Given the description of an element on the screen output the (x, y) to click on. 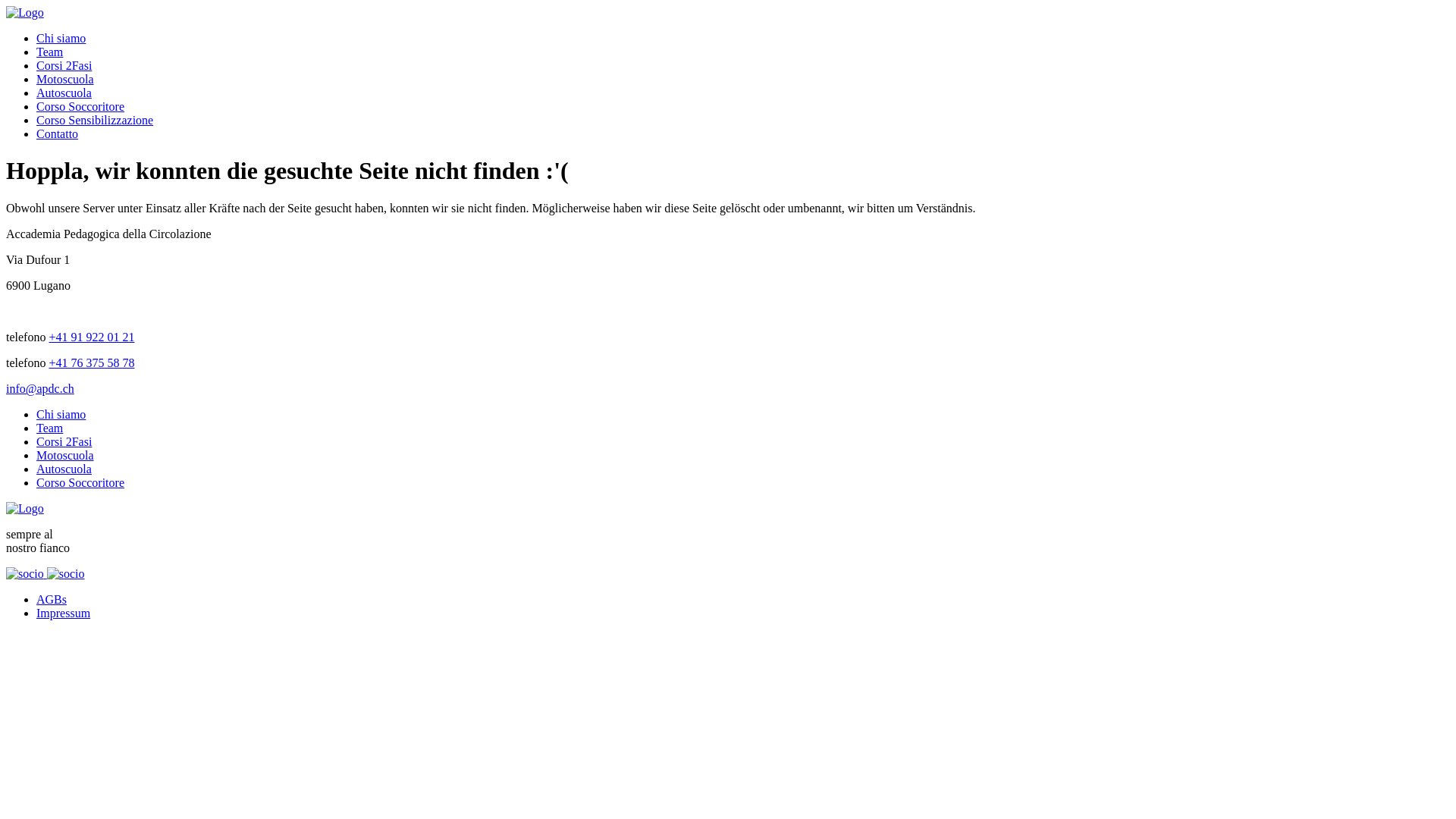
+41 76 375 58 78 Element type: text (91, 362)
Corso Soccoritore Element type: text (80, 106)
Motoscuola Element type: text (65, 78)
info@apdc.ch Element type: text (40, 388)
+41 91 922 01 21 Element type: text (91, 336)
AGBs Element type: text (51, 599)
Impressum Element type: text (63, 612)
Corsi 2Fasi Element type: text (63, 65)
Corsi 2Fasi Element type: text (63, 441)
Autoscuola Element type: text (63, 92)
Team Element type: text (49, 51)
Corso Soccoritore Element type: text (80, 482)
Chi siamo Element type: text (60, 37)
Contatto Element type: text (57, 133)
Chi siamo Element type: text (60, 413)
Autoscuola Element type: text (63, 468)
Motoscuola Element type: text (65, 454)
Corso Sensibilizzazione Element type: text (94, 119)
Team Element type: text (49, 427)
